Given the description of an element on the screen output the (x, y) to click on. 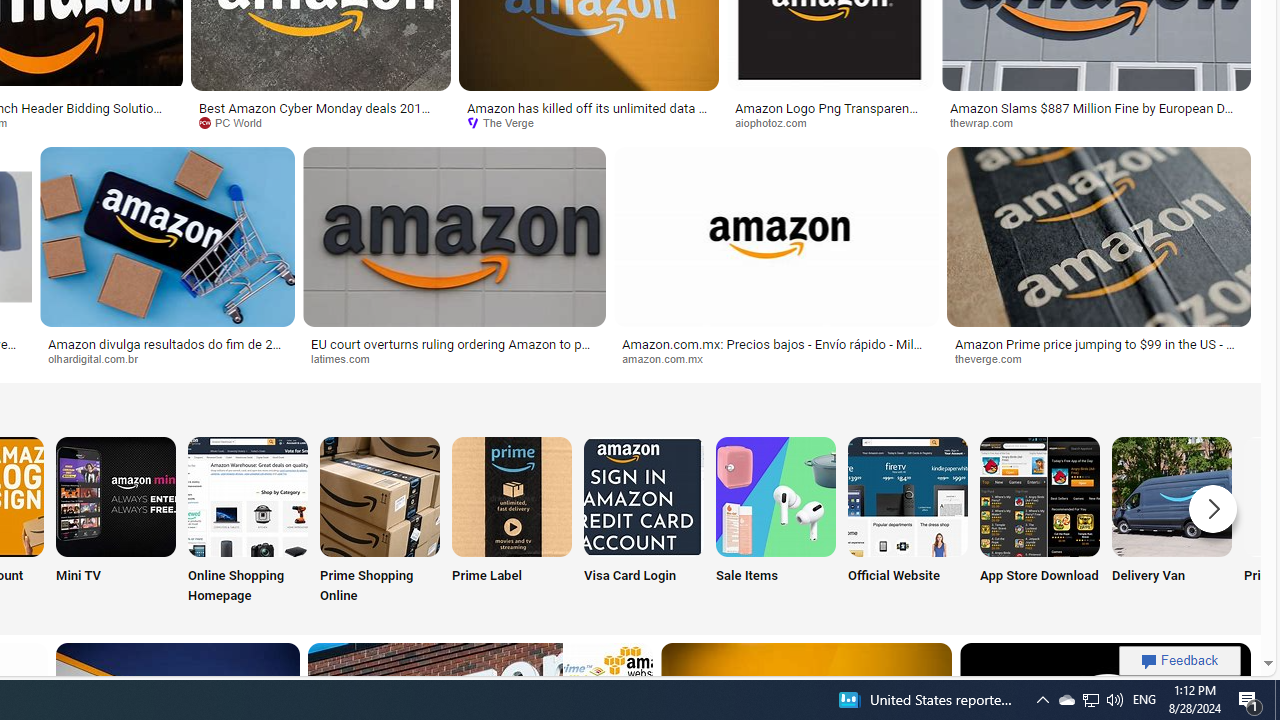
Amazon Prime Shopping Online Prime Shopping Online (380, 521)
Amazon App Store Download App Store Download (1039, 521)
Amazon Official Website Official Website (907, 521)
Image result for amazon (1098, 236)
Delivery Van (1171, 521)
Feedback (1179, 660)
thewrap.com (987, 121)
App Store Download (1039, 521)
theverge.com (994, 358)
olhardigital.com.br (100, 358)
Amazon Mini TV Mini TV (116, 521)
